Given the description of an element on the screen output the (x, y) to click on. 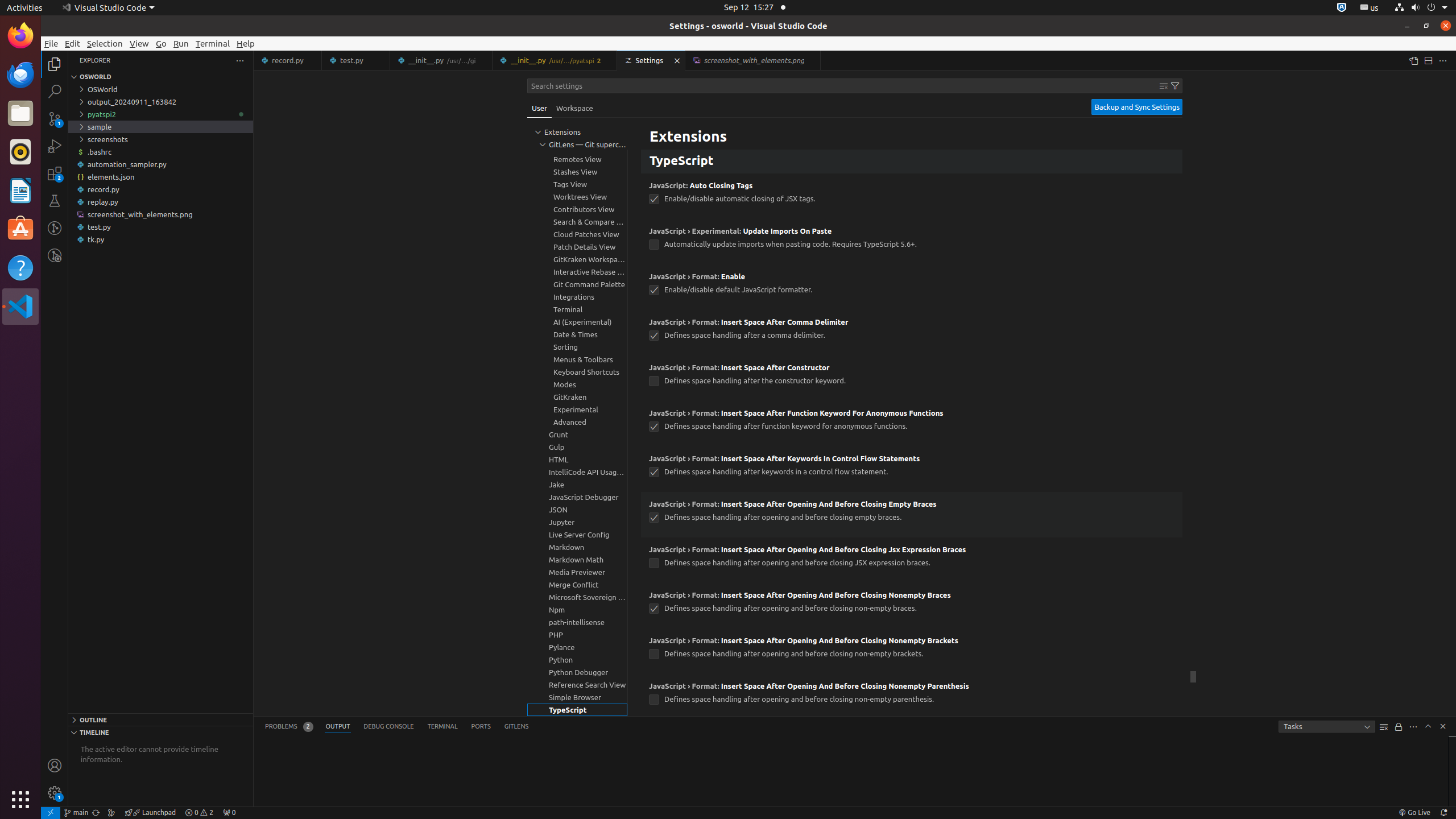
Warnings: 2 Element type: push-button (199, 812)
Run Element type: push-button (181, 43)
HTML, group Element type: tree-item (577, 459)
Go Element type: push-button (161, 43)
